Given the description of an element on the screen output the (x, y) to click on. 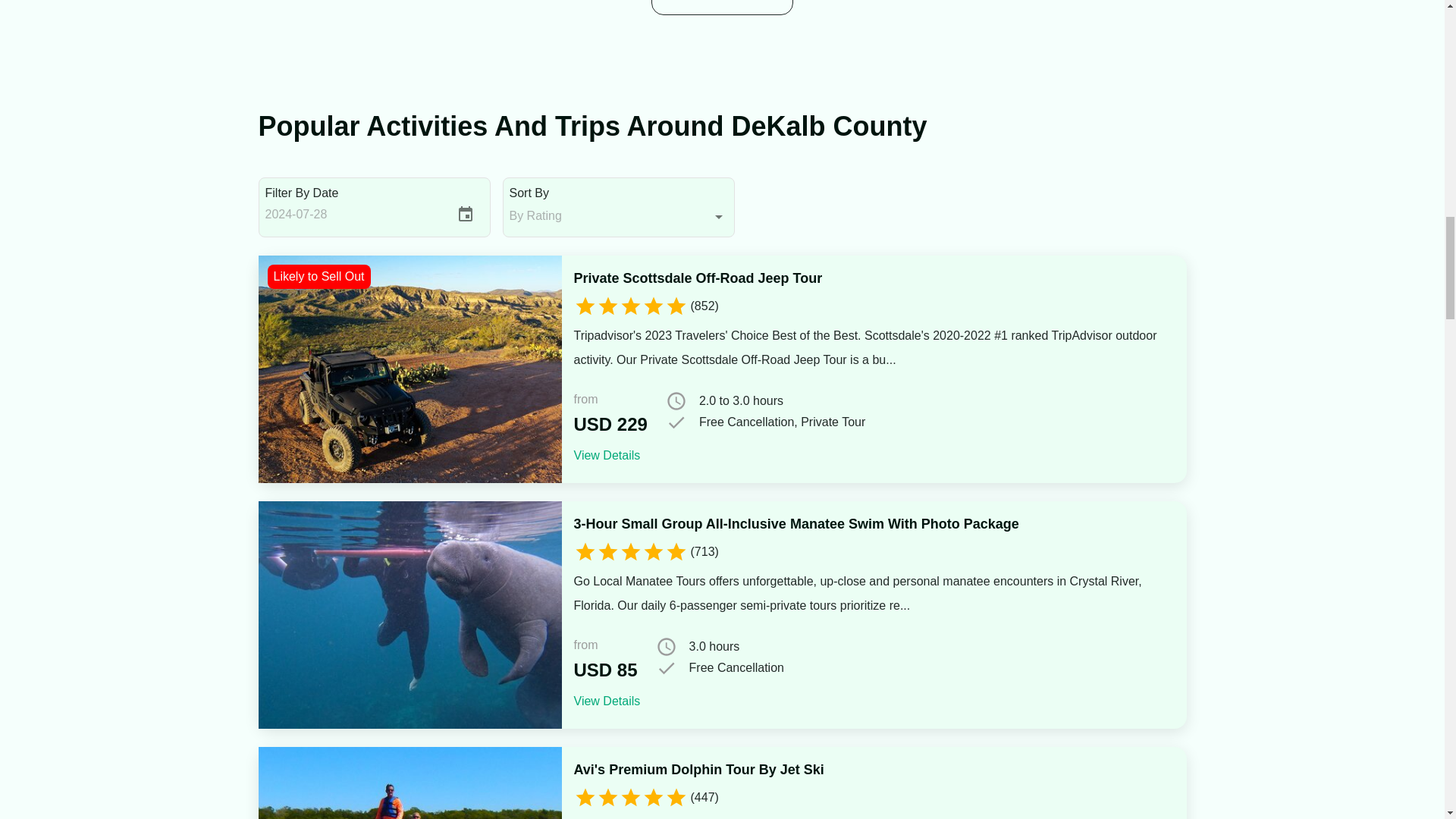
Avi'S Premium Dolphin Tour By Jet Ski (698, 769)
Likely to Sell Out (408, 369)
View Details (606, 700)
2024-07-28 (352, 214)
View Details (606, 454)
Private Scottsdale Off-Road Jeep Tour (697, 278)
